Given the description of an element on the screen output the (x, y) to click on. 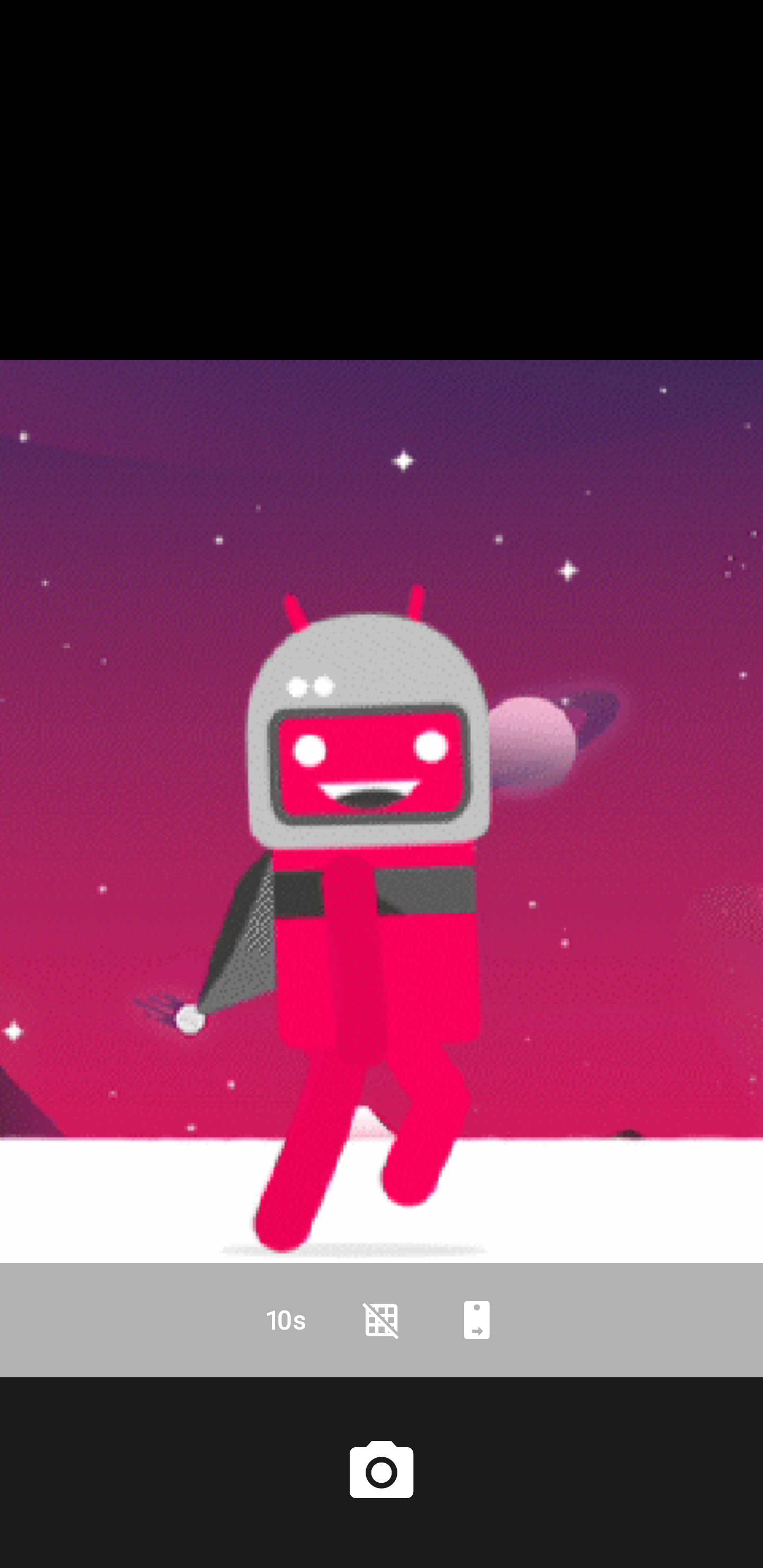
Countdown timer duration is set to 10 seconds (285, 1319)
Grid lines off (381, 1319)
Back camera (476, 1319)
Shutter (381, 1472)
